Given the description of an element on the screen output the (x, y) to click on. 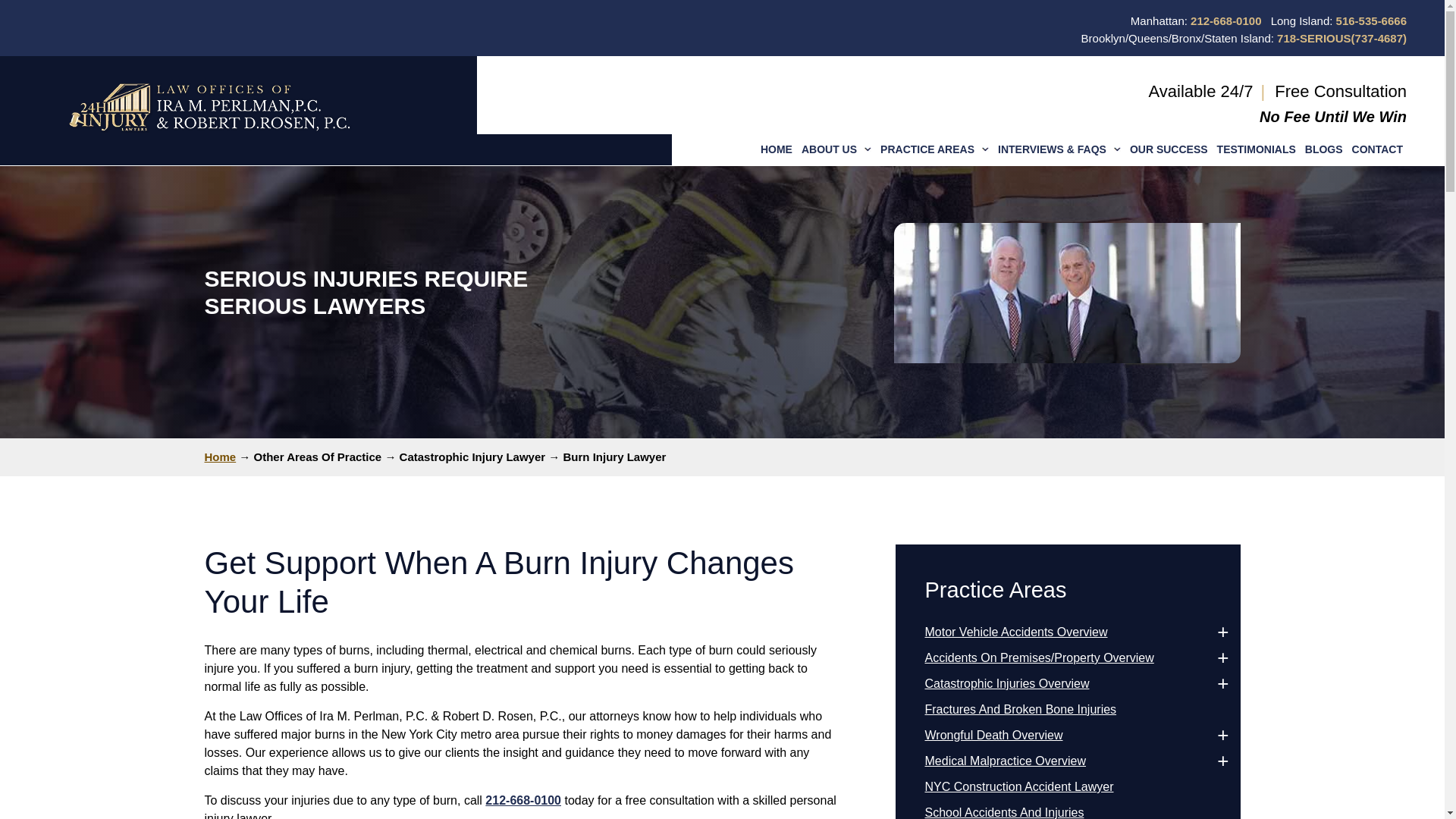
ABOUT US (836, 149)
PRACTICE AREAS (934, 149)
Go to Other Areas Of Practice. (317, 456)
Go to Catastrophic Injury Lawyer. (472, 456)
212-668-0100 (1225, 20)
HOME (776, 149)
516-535-6666 (1371, 20)
